Given the description of an element on the screen output the (x, y) to click on. 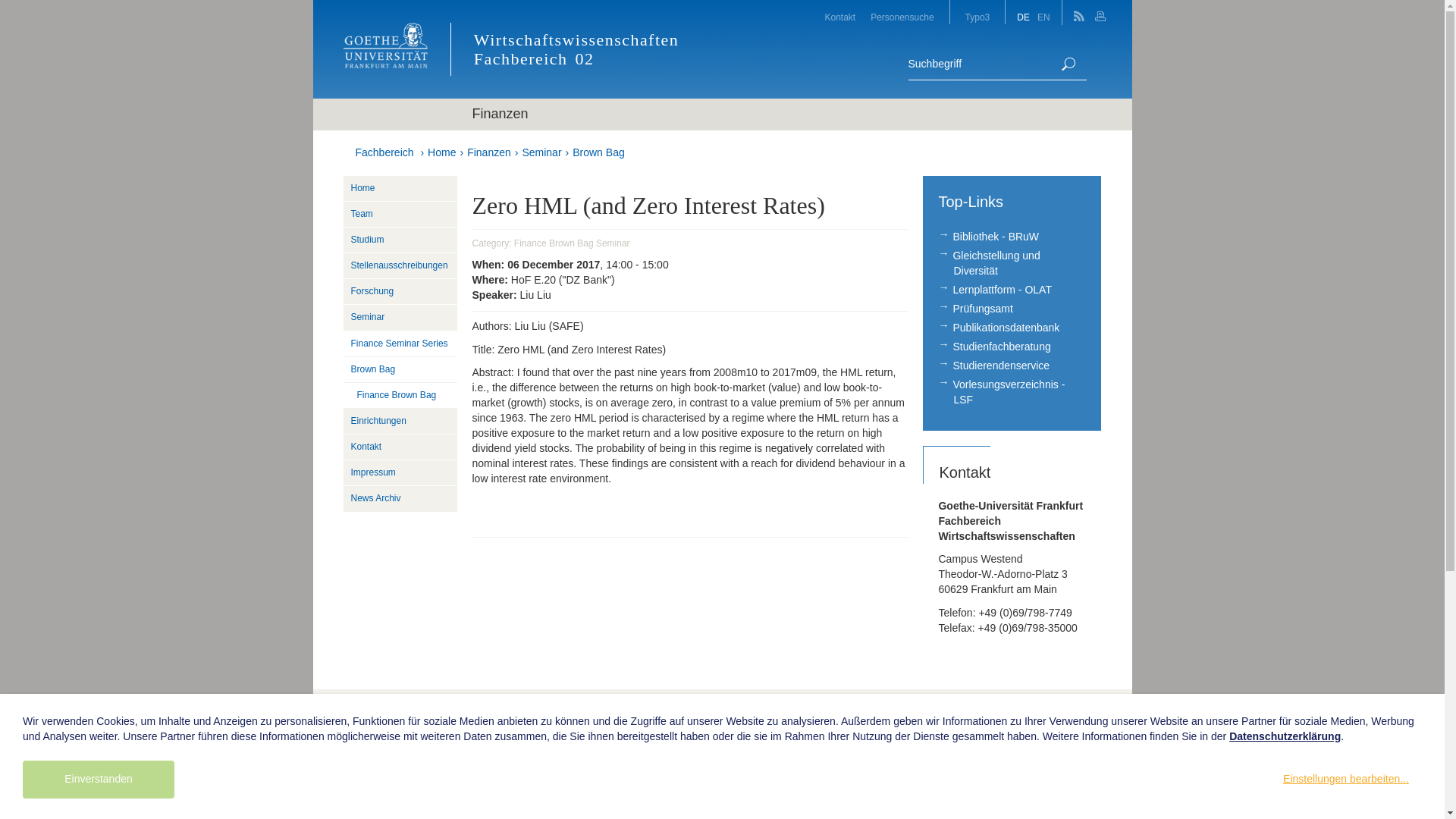
Kontakt (839, 12)
Home (441, 152)
Seminar (399, 317)
Personensuche (901, 12)
Suche (1067, 63)
Home (399, 188)
Impressum (399, 473)
Kontakt (399, 447)
Einrichtungen (399, 421)
Forschung (399, 291)
